Given the description of an element on the screen output the (x, y) to click on. 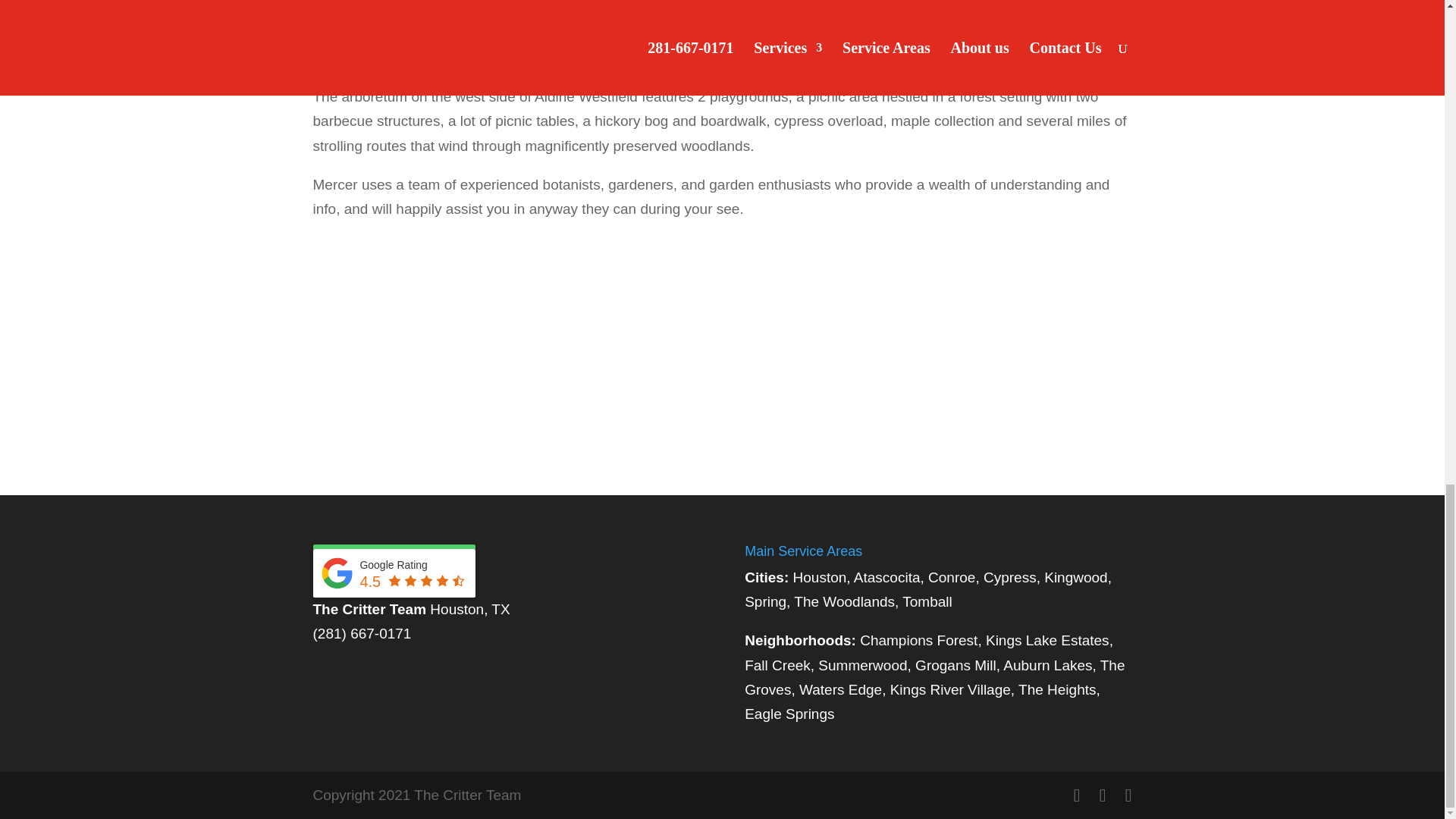
Conroe (951, 577)
Champions Forest (918, 640)
Spring (765, 601)
The Woodlands (844, 601)
Houston (820, 577)
Kingwood (1074, 577)
Tomball (927, 601)
The Critter Team Houston, TX (411, 609)
Atascocita (886, 577)
Cypress (1010, 577)
